Given the description of an element on the screen output the (x, y) to click on. 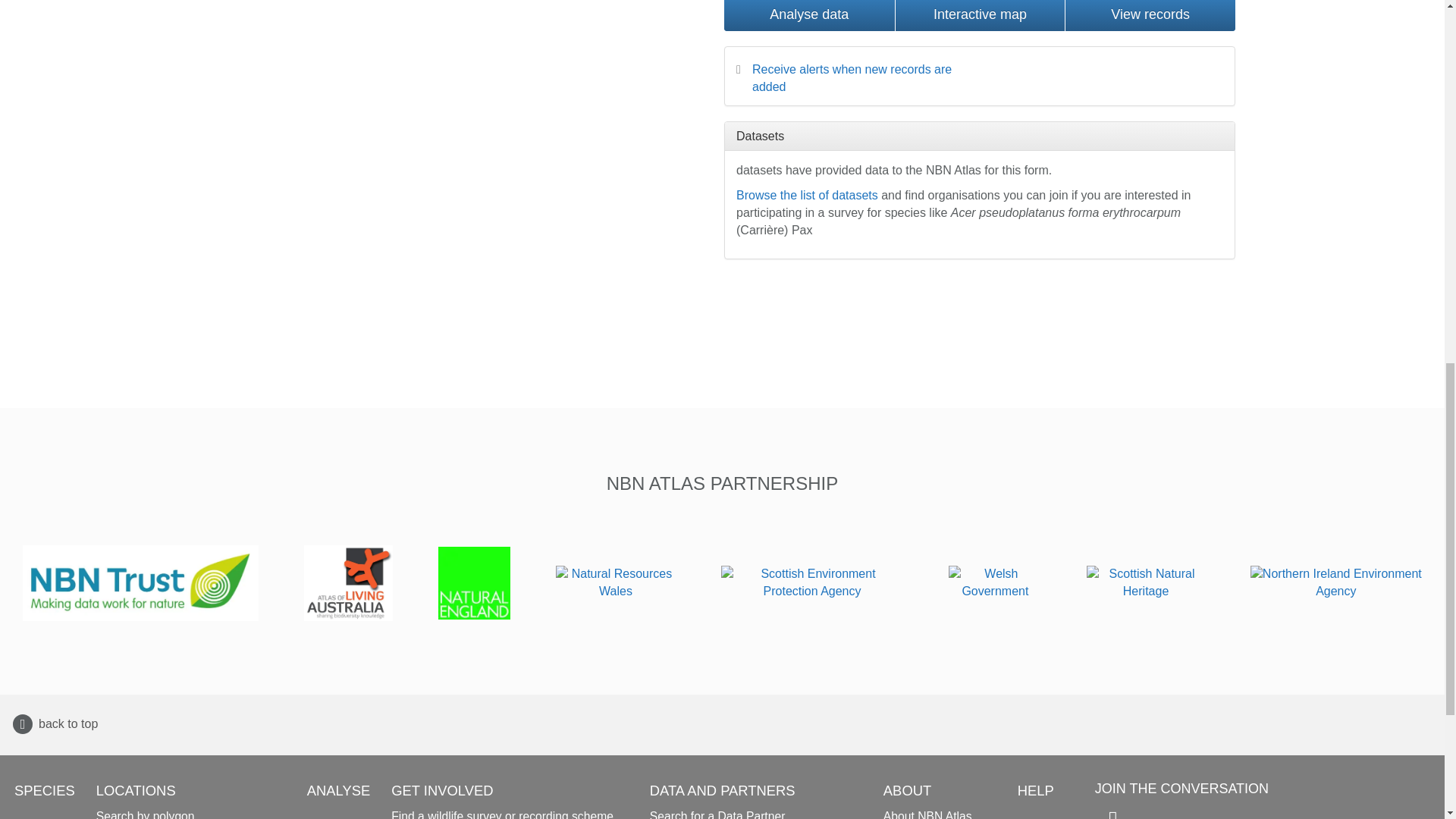
Analyse data for this taxon using advance map tools (809, 15)
View a list of the records for this taxon (1149, 15)
View a simple map of the records for this taxon (980, 15)
